Given the description of an element on the screen output the (x, y) to click on. 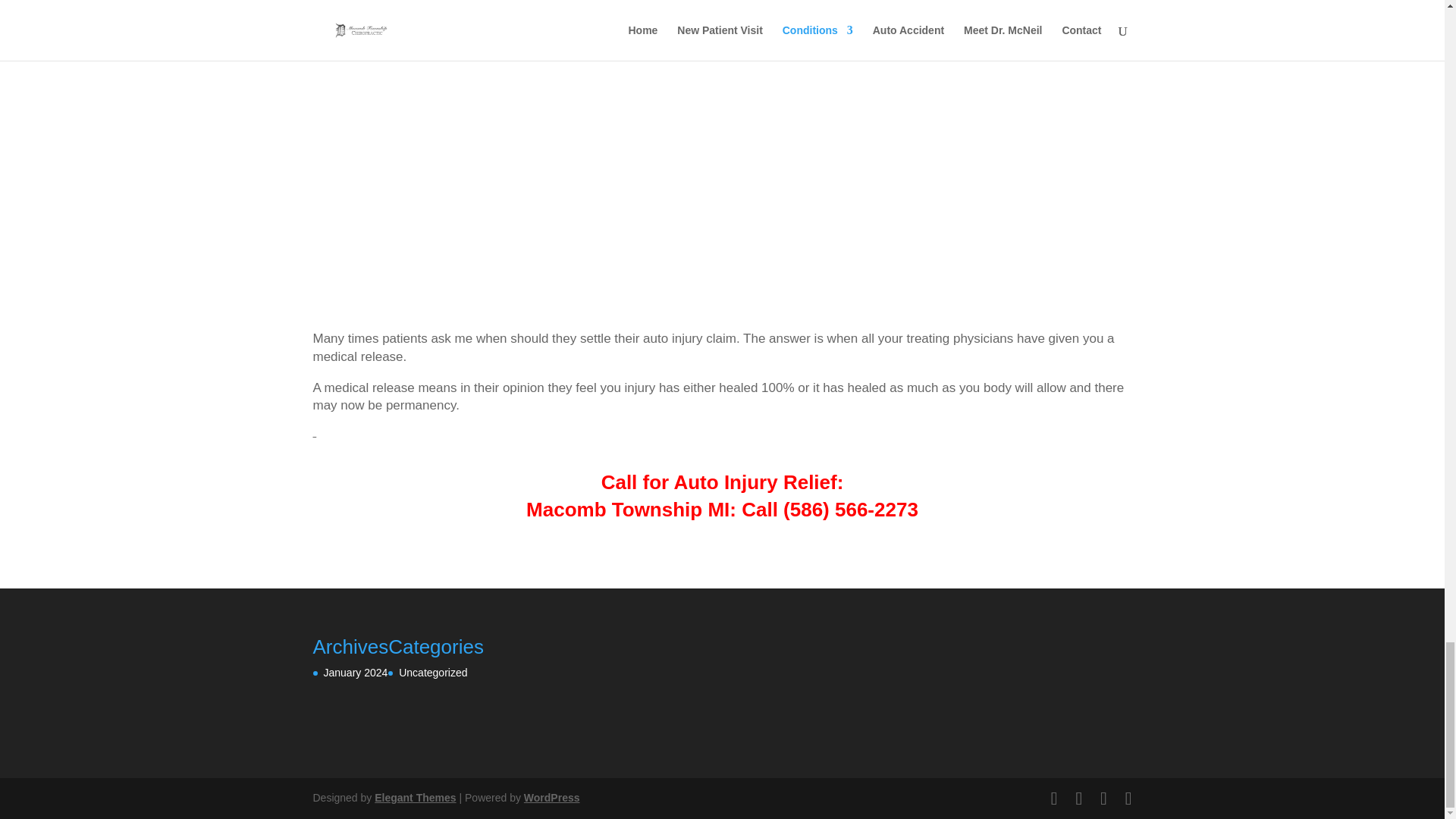
Premium WordPress Themes (414, 797)
Elegant Themes (414, 797)
January 2024 (355, 672)
Uncategorized (432, 672)
